Given the description of an element on the screen output the (x, y) to click on. 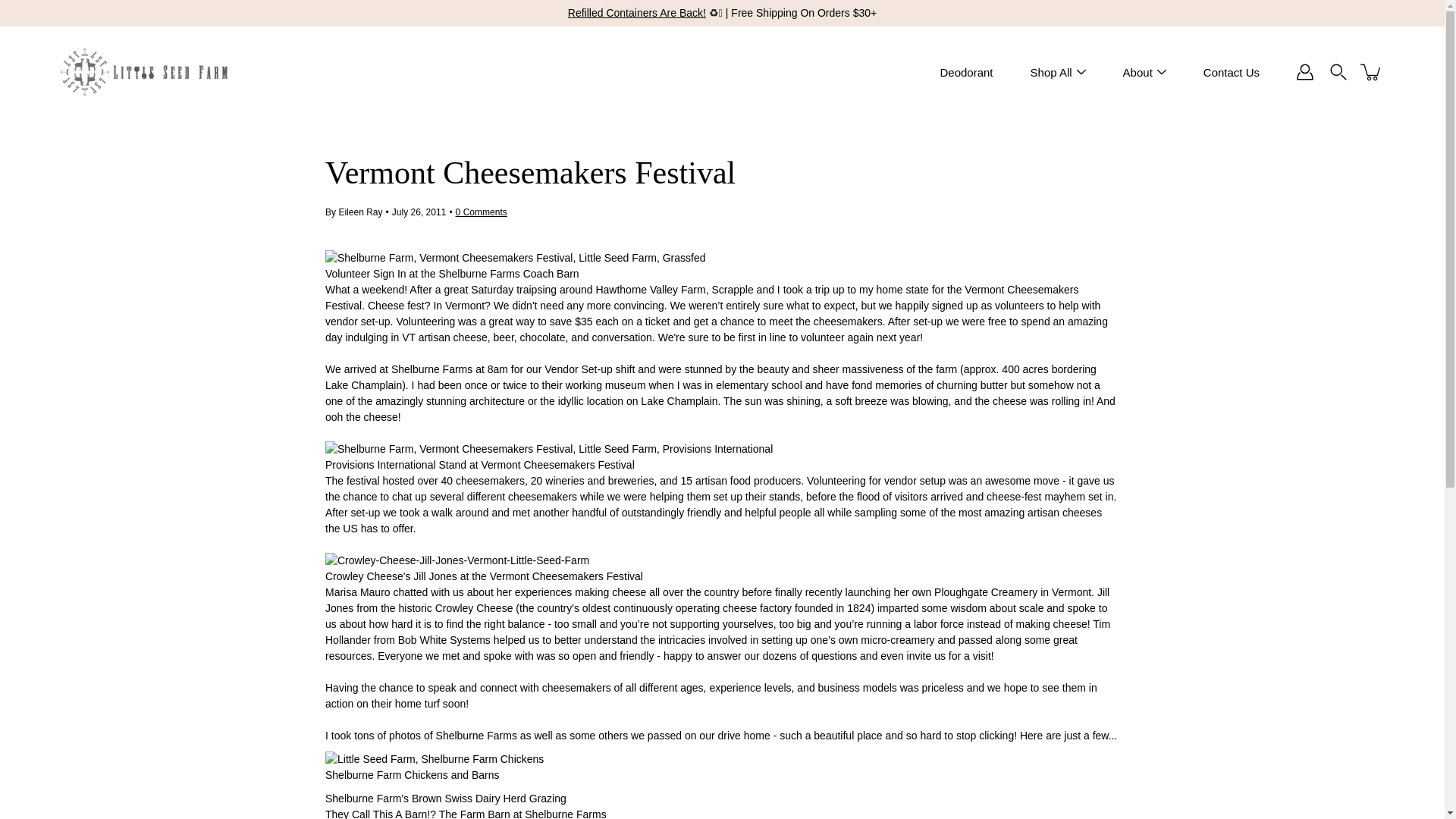
Refilled Products (636, 12)
Deodorant (965, 71)
Refilled Containers Are Back! (636, 12)
About (1137, 71)
Contact Us (1231, 71)
Shop All (1050, 71)
